Given the description of an element on the screen output the (x, y) to click on. 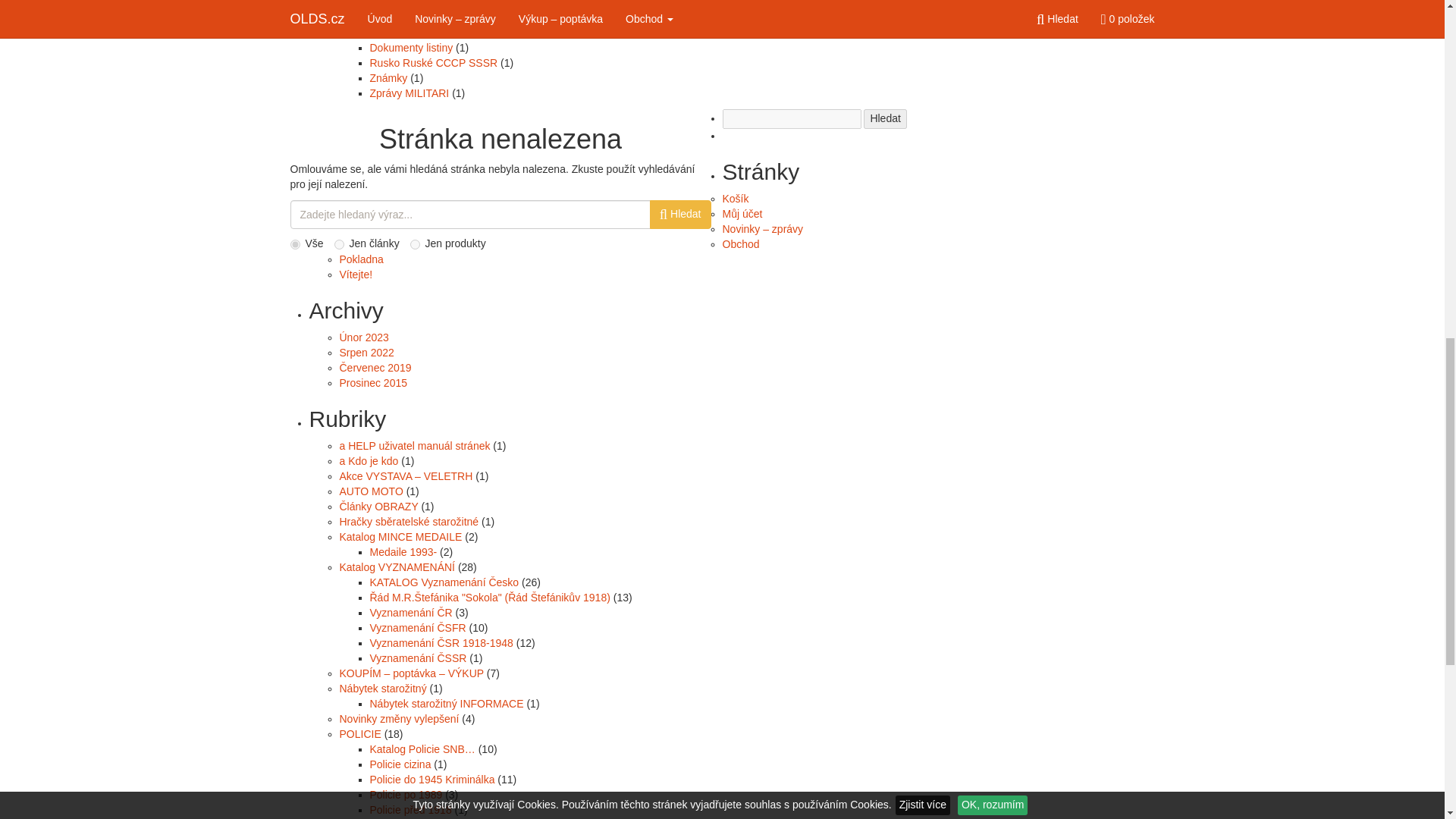
product (415, 244)
Hledat (884, 118)
post (338, 244)
any (294, 244)
